Given the description of an element on the screen output the (x, y) to click on. 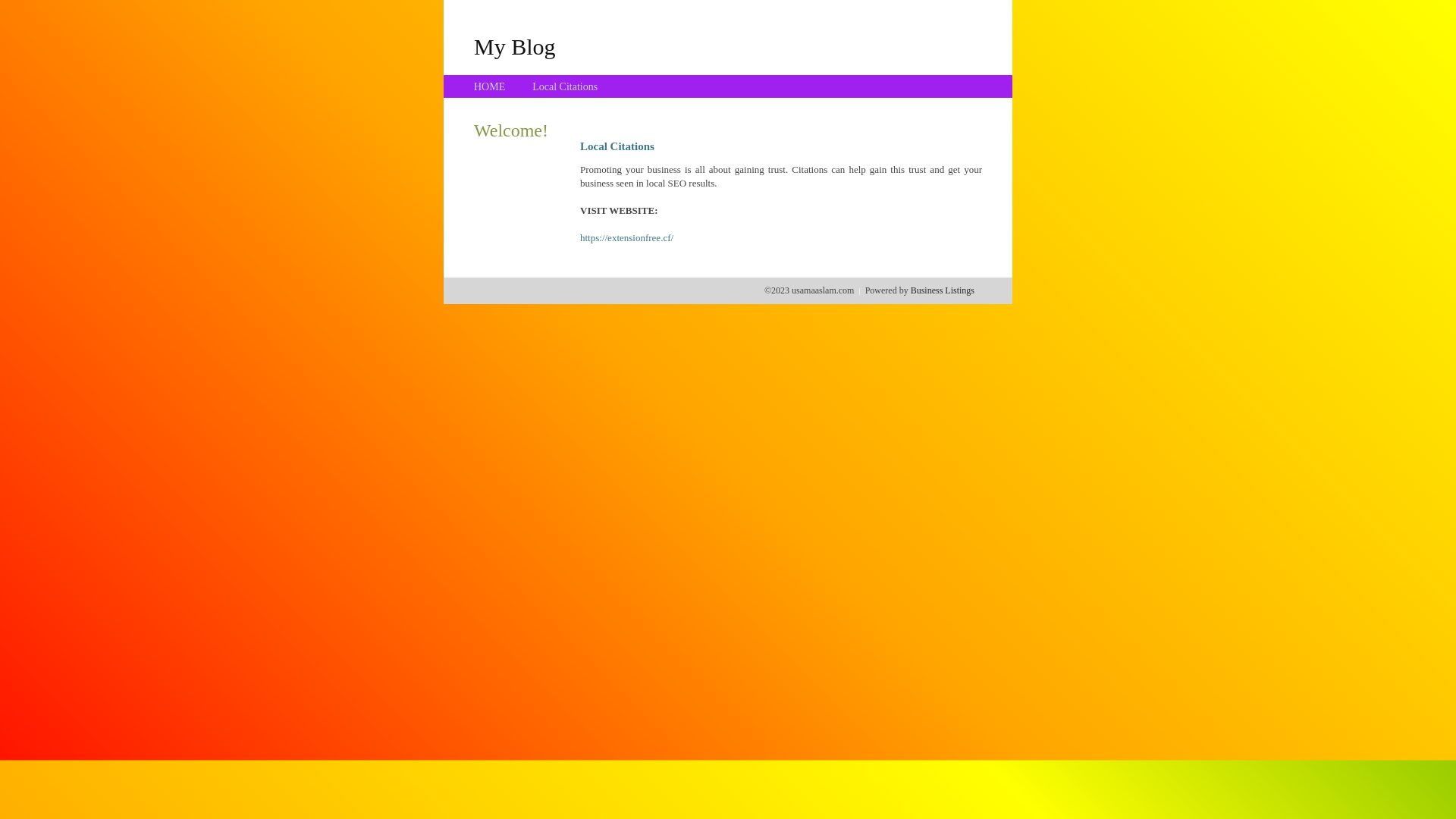
HOME Element type: text (489, 86)
My Blog Element type: text (514, 46)
https://extensionfree.cf/ Element type: text (626, 237)
Local Citations Element type: text (564, 86)
Business Listings Element type: text (942, 290)
